Given the description of an element on the screen output the (x, y) to click on. 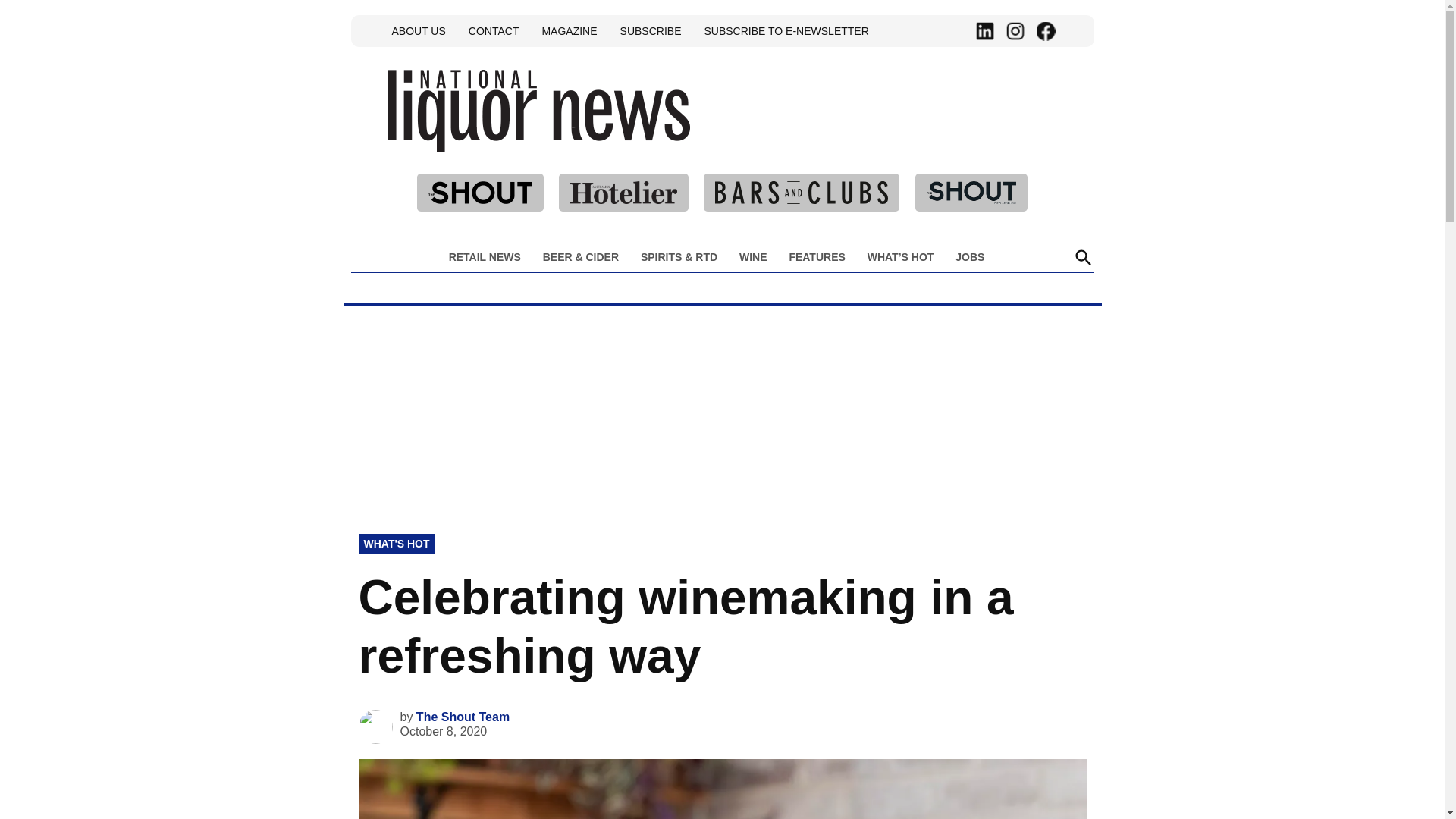
ABOUT US (418, 30)
CONTACT (493, 30)
Instagram (1015, 31)
National Liquor News (733, 144)
Facebook (1045, 31)
MAGAZINE (568, 30)
Linkedin (984, 31)
RETAIL NEWS (488, 256)
SUBSCRIBE (650, 30)
SUBSCRIBE TO E-NEWSLETTER (786, 30)
